Given the description of an element on the screen output the (x, y) to click on. 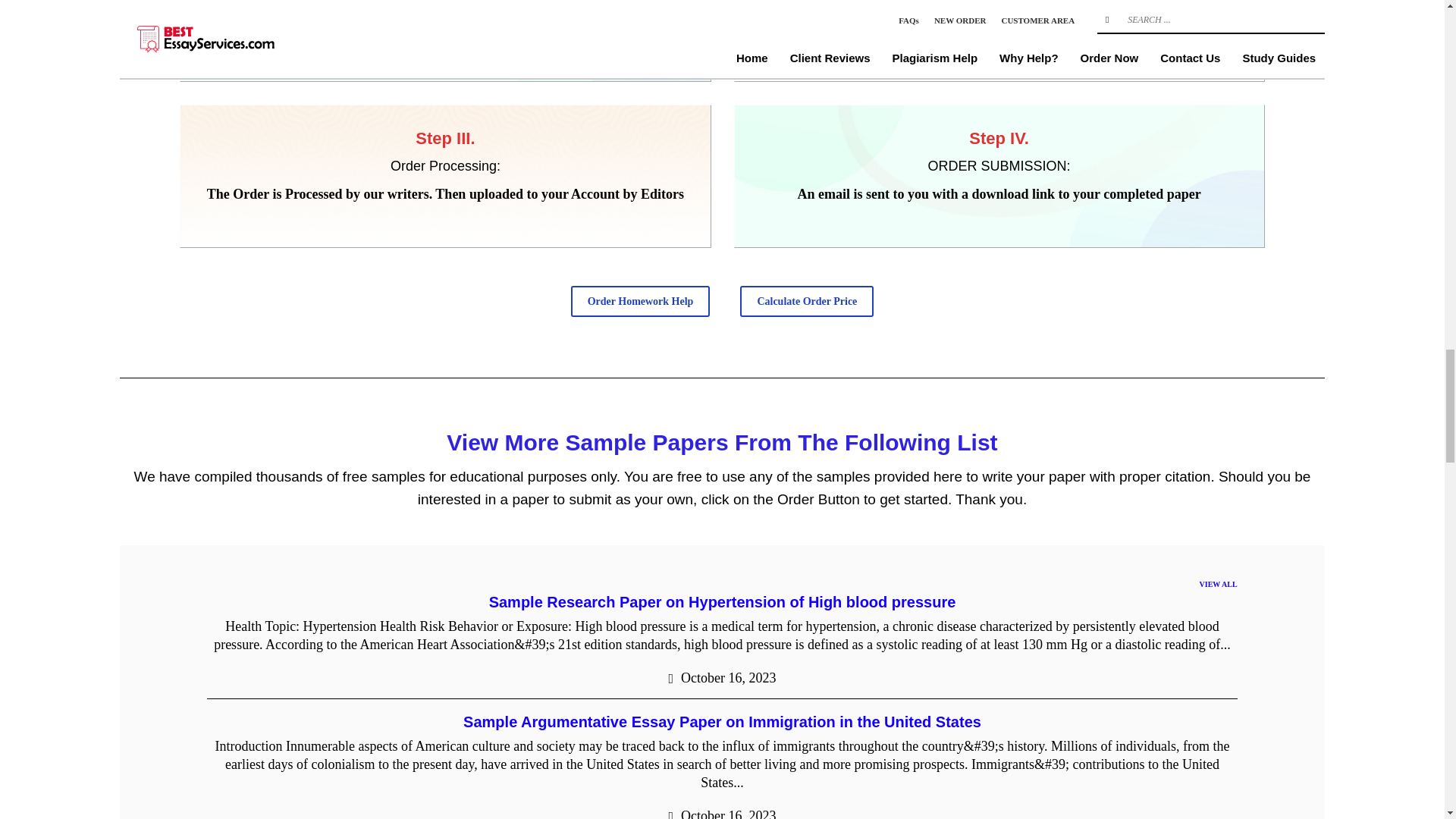
Order Homework Help (640, 300)
VIEW ALL (1218, 584)
Sample Research Paper on Hypertension of High blood pressure (722, 601)
Calculate Order Price (806, 300)
